Given the description of an element on the screen output the (x, y) to click on. 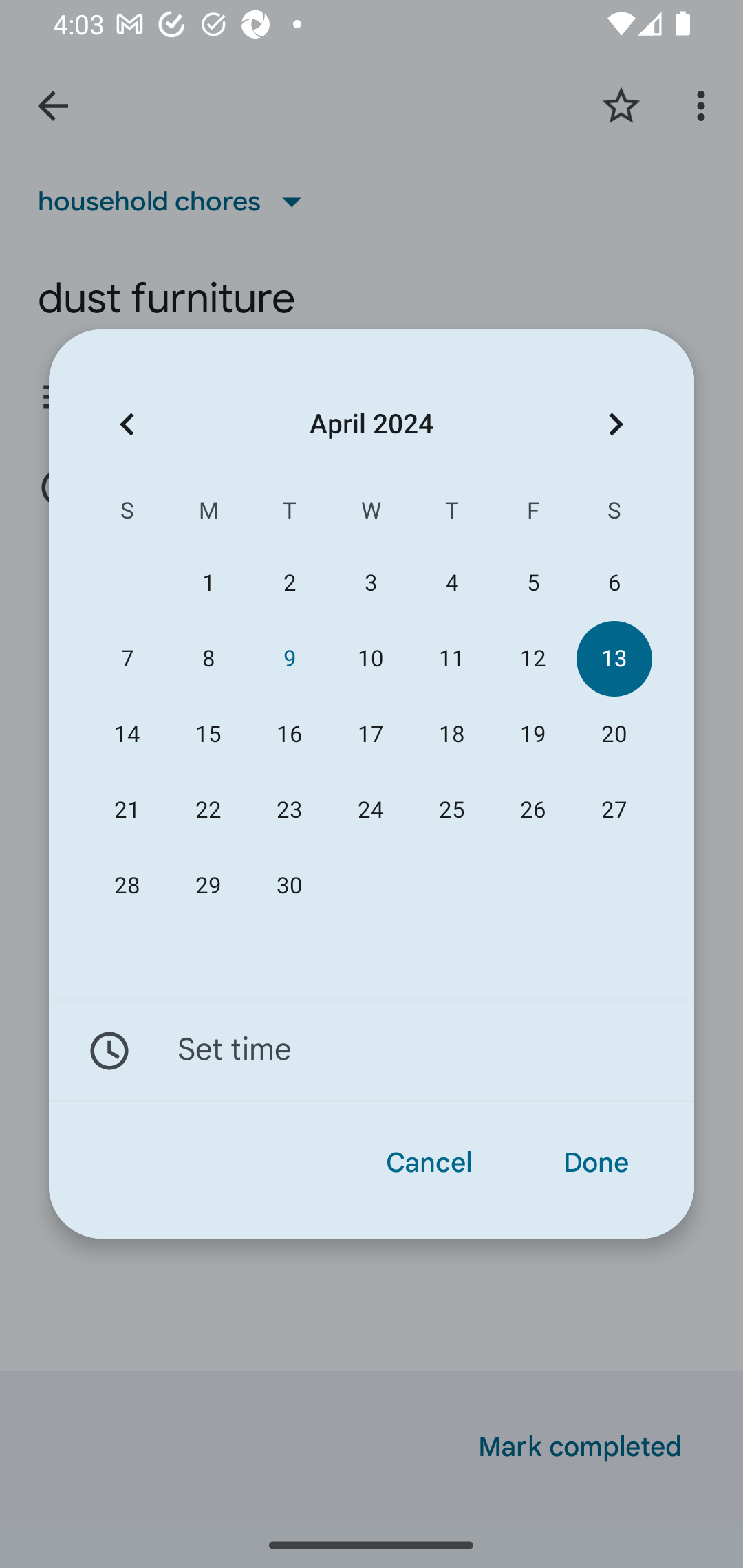
Previous month (126, 424)
Next month (615, 424)
1 01 April 2024 (207, 582)
2 02 April 2024 (288, 582)
3 03 April 2024 (370, 582)
4 04 April 2024 (451, 582)
5 05 April 2024 (532, 582)
6 06 April 2024 (613, 582)
7 07 April 2024 (126, 658)
8 08 April 2024 (207, 658)
9 09 April 2024 (288, 658)
10 10 April 2024 (370, 658)
11 11 April 2024 (451, 658)
12 12 April 2024 (532, 658)
13 13 April 2024 (613, 658)
14 14 April 2024 (126, 734)
15 15 April 2024 (207, 734)
16 16 April 2024 (288, 734)
17 17 April 2024 (370, 734)
18 18 April 2024 (451, 734)
19 19 April 2024 (532, 734)
20 20 April 2024 (613, 734)
21 21 April 2024 (126, 810)
22 22 April 2024 (207, 810)
23 23 April 2024 (288, 810)
24 24 April 2024 (370, 810)
25 25 April 2024 (451, 810)
26 26 April 2024 (532, 810)
27 27 April 2024 (613, 810)
28 28 April 2024 (126, 885)
29 29 April 2024 (207, 885)
30 30 April 2024 (288, 885)
Set time (371, 1050)
Cancel (429, 1162)
Done (595, 1162)
